Given the description of an element on the screen output the (x, y) to click on. 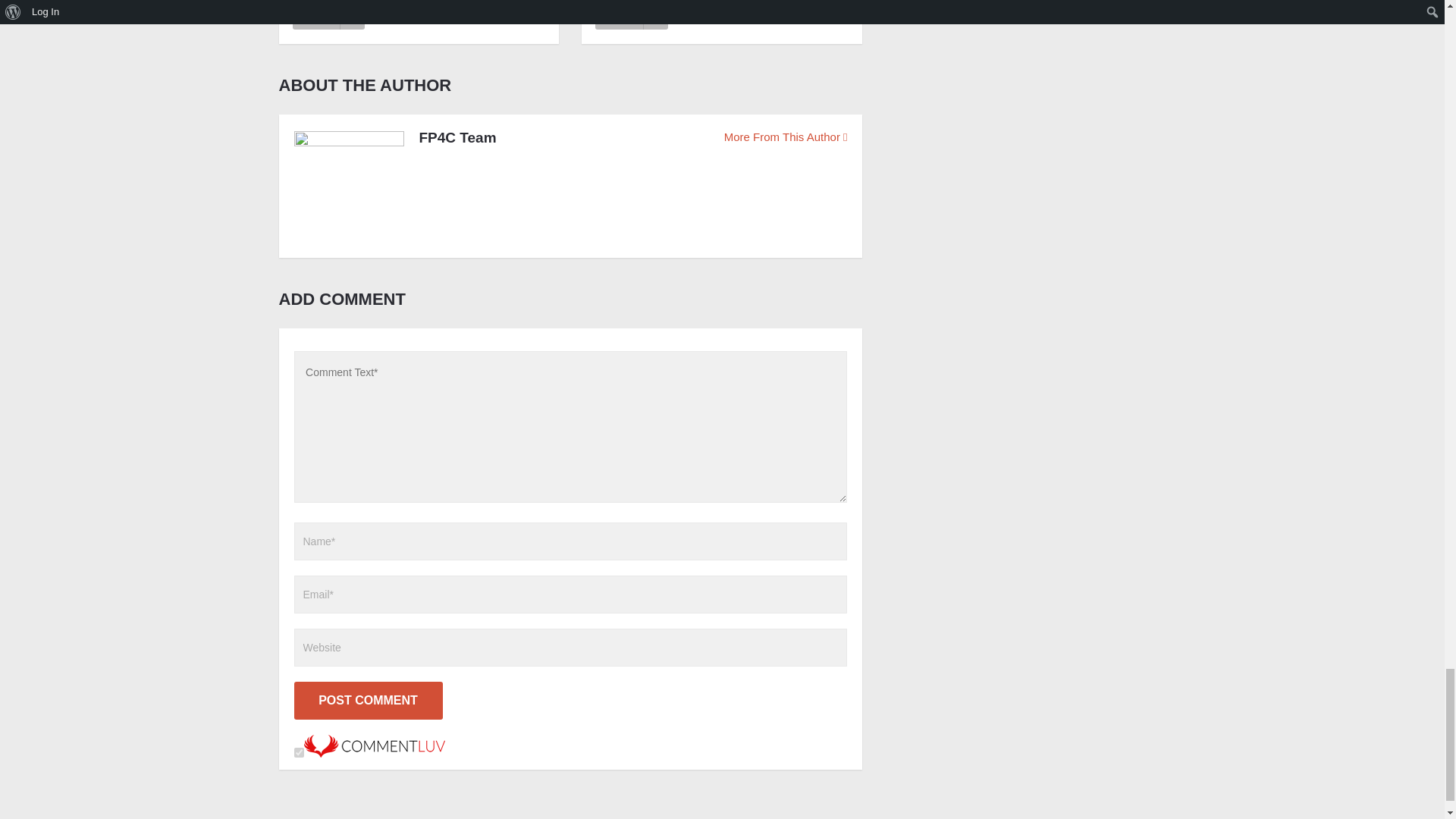
Post Comment (368, 700)
on (299, 752)
MORE (328, 15)
